Given the description of an element on the screen output the (x, y) to click on. 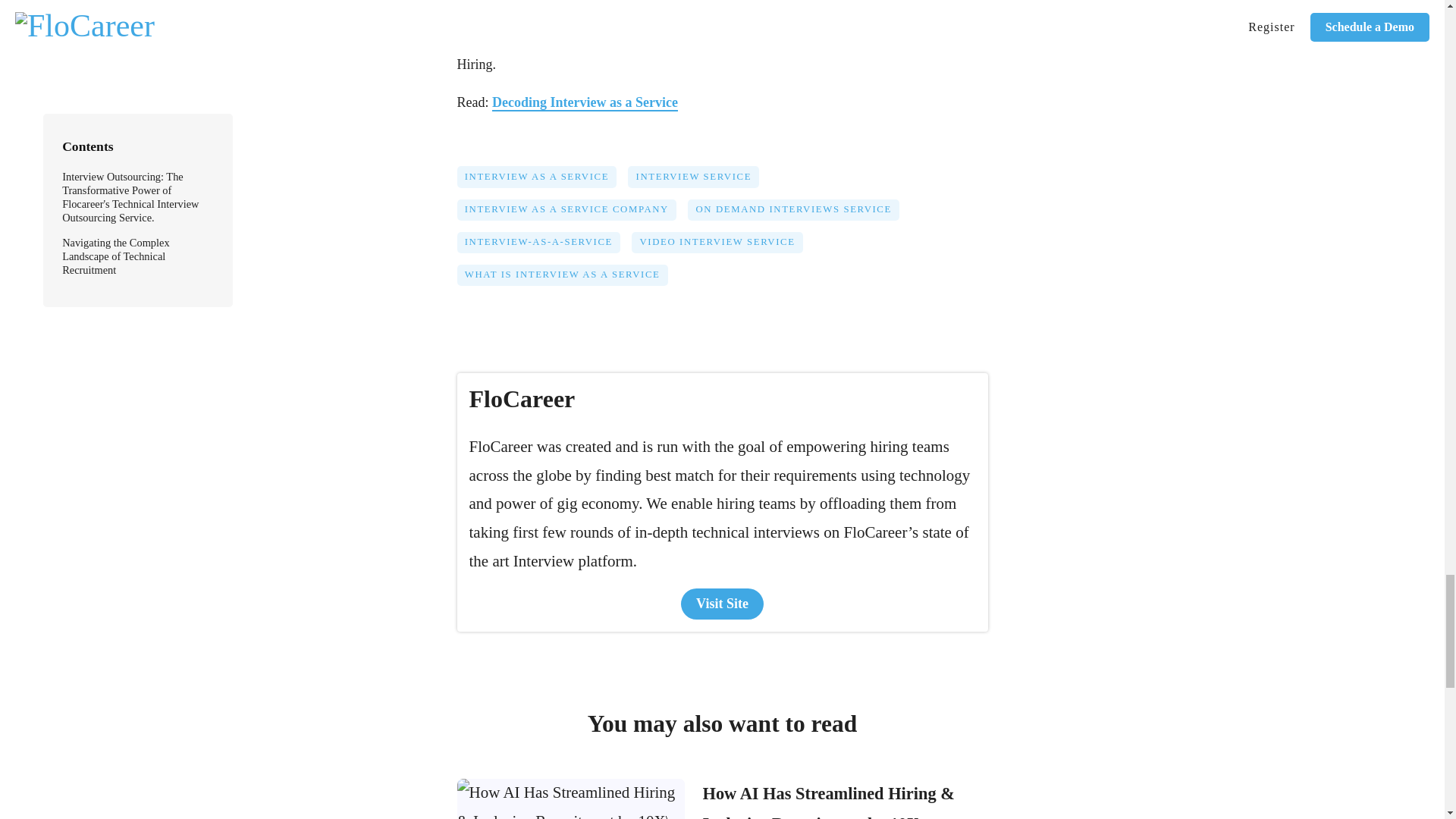
VIDEO INTERVIEW SERVICE (722, 247)
INTERVIEW SERVICE (698, 182)
INTERVIEW AS A SERVICE (542, 182)
Decoding Interview as a Service (585, 103)
WHAT IS INTERVIEW AS A SERVICE (567, 280)
Visit Site (721, 603)
INTERVIEW-AS-A-SERVICE (544, 247)
INTERVIEW AS A SERVICE COMPANY (572, 215)
ON DEMAND INTERVIEWS SERVICE (799, 215)
